Given the description of an element on the screen output the (x, y) to click on. 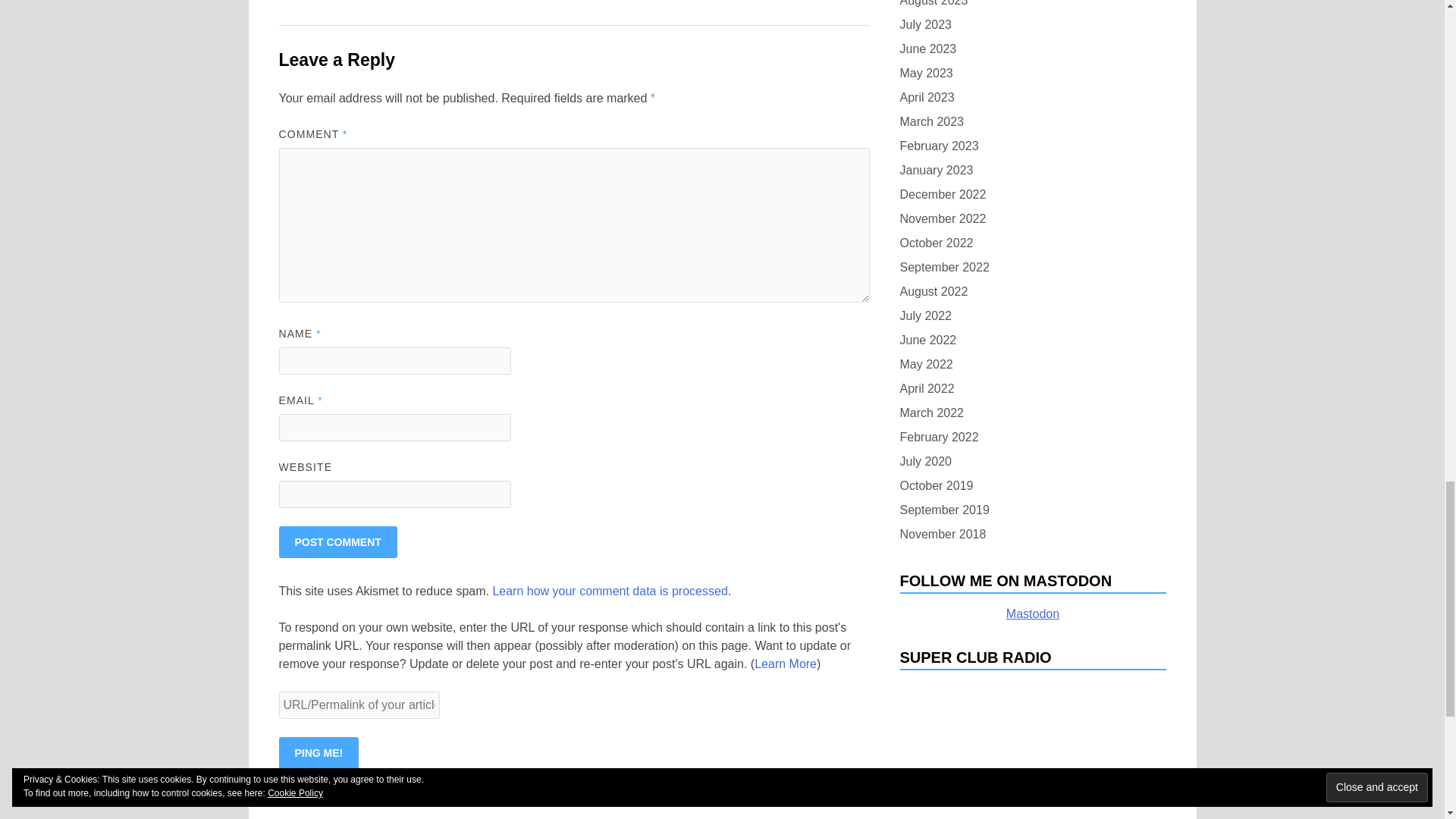
Post Comment (338, 541)
Ping me! (319, 753)
